Given the description of an element on the screen output the (x, y) to click on. 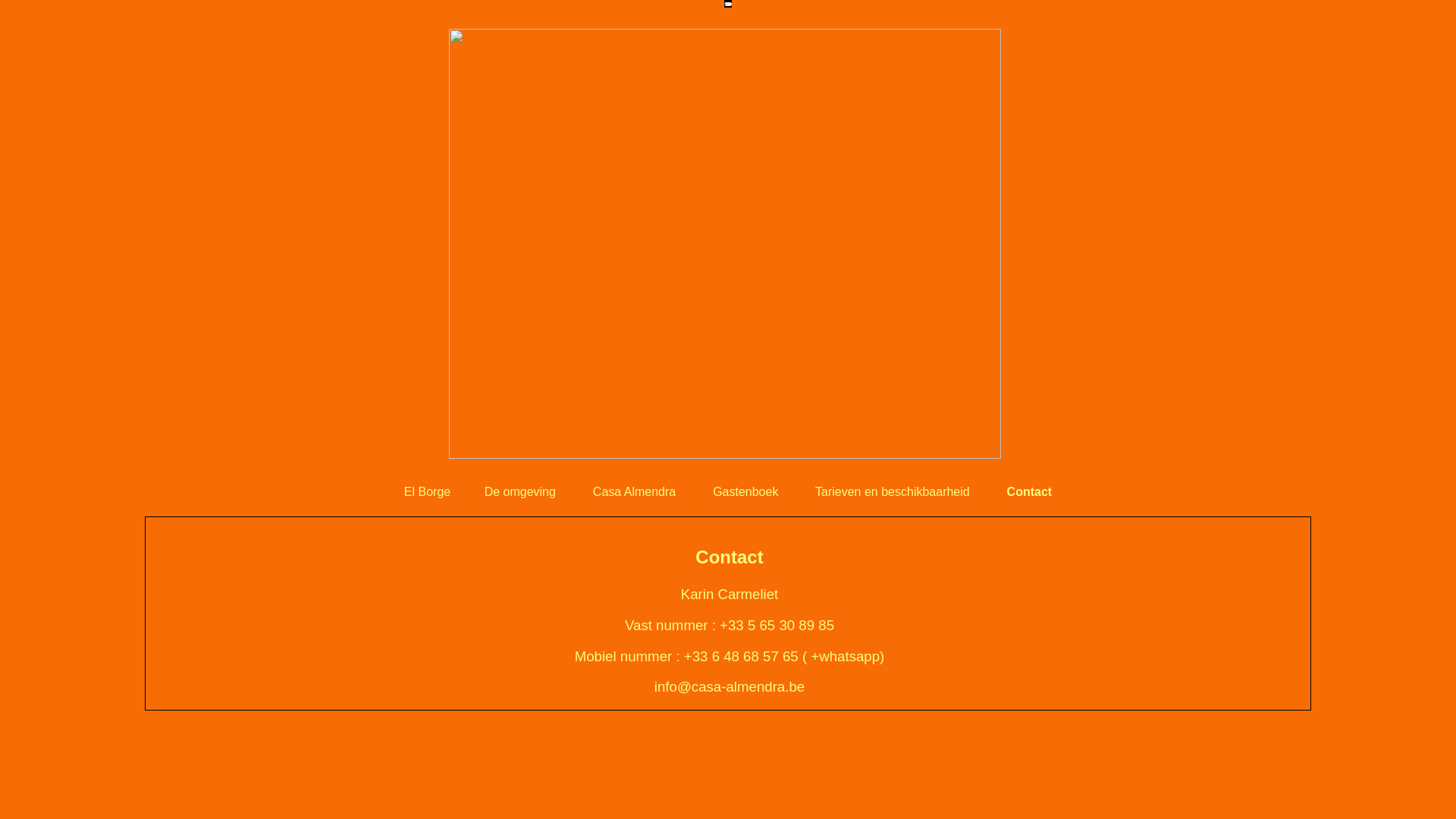
Casa Almendra Element type: text (634, 491)
Gastenboek Element type: text (745, 491)
De omgeving Element type: text (519, 491)
Contact Element type: text (1029, 486)
info@casa-almendra.be Element type: text (729, 686)
El Borge Element type: text (427, 486)
Tarieven en beschikbaarheid Element type: text (892, 491)
